Given the description of an element on the screen output the (x, y) to click on. 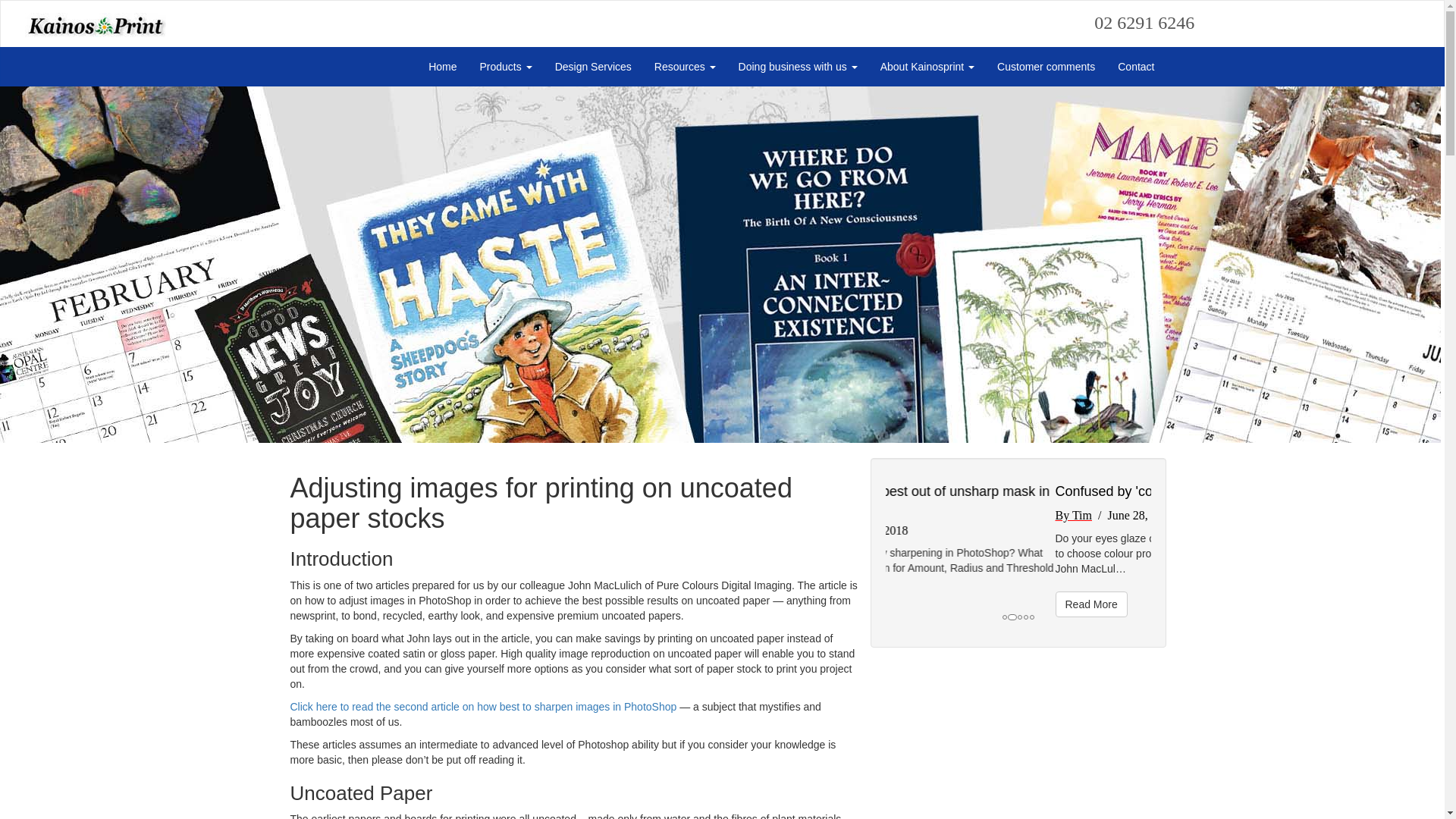
Customer comments Element type: text (1045, 66)
Read More Element type: text (921, 618)
Doing business with us Element type: text (798, 66)
Resources Element type: text (685, 66)
Products Element type: text (505, 66)
About Kainosprint Element type: text (927, 66)
Design Services Element type: text (593, 66)
Contact Element type: text (1135, 66)
How to get the best out of unsharp mask in PhotoShop Element type: text (1015, 498)
Home Element type: text (442, 66)
Kainos Print Home Page Element type: hover (83, 18)
